Given the description of an element on the screen output the (x, y) to click on. 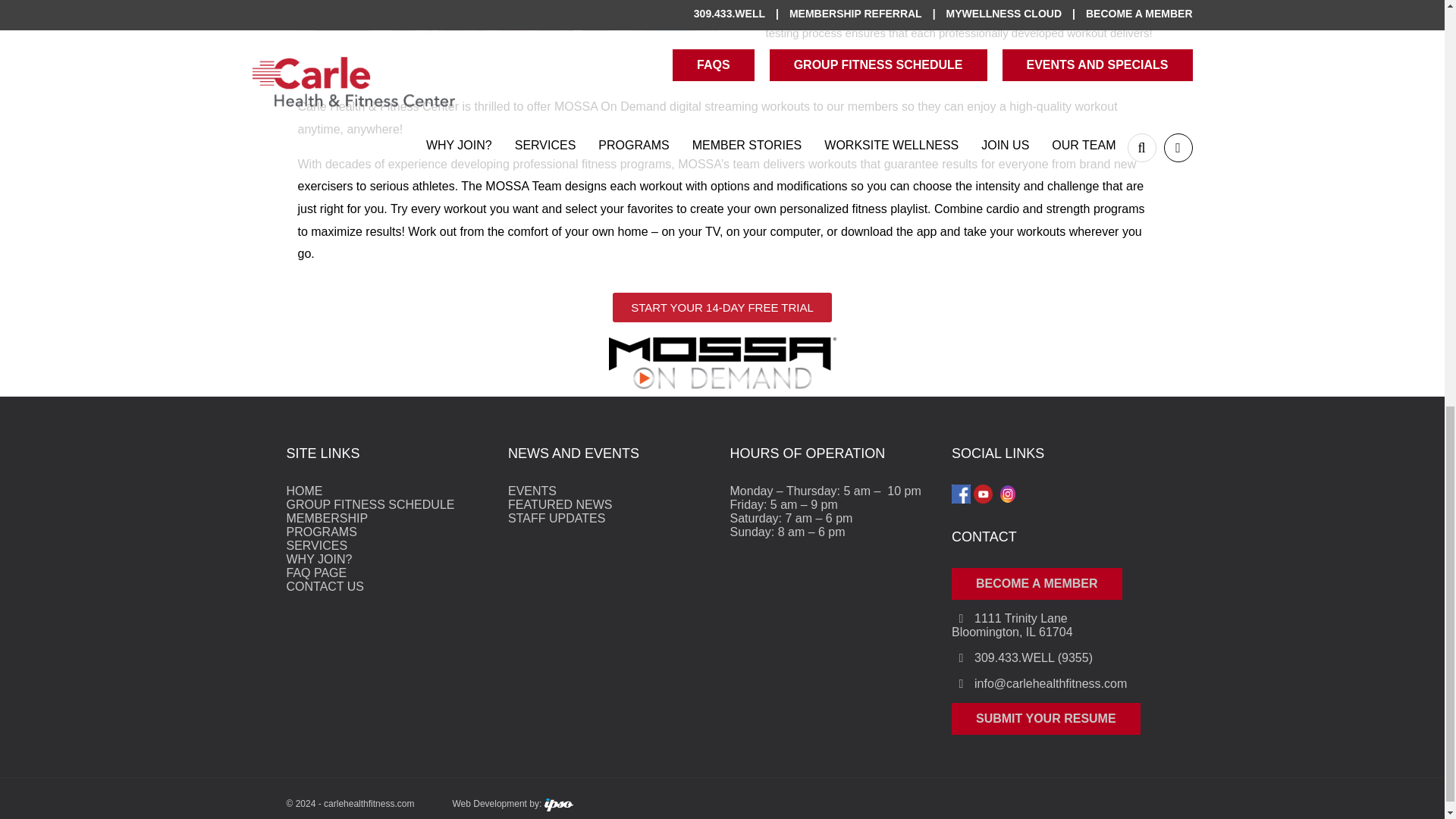
Facebook (961, 493)
Instagram (1007, 493)
YouTube (983, 493)
